Given the description of an element on the screen output the (x, y) to click on. 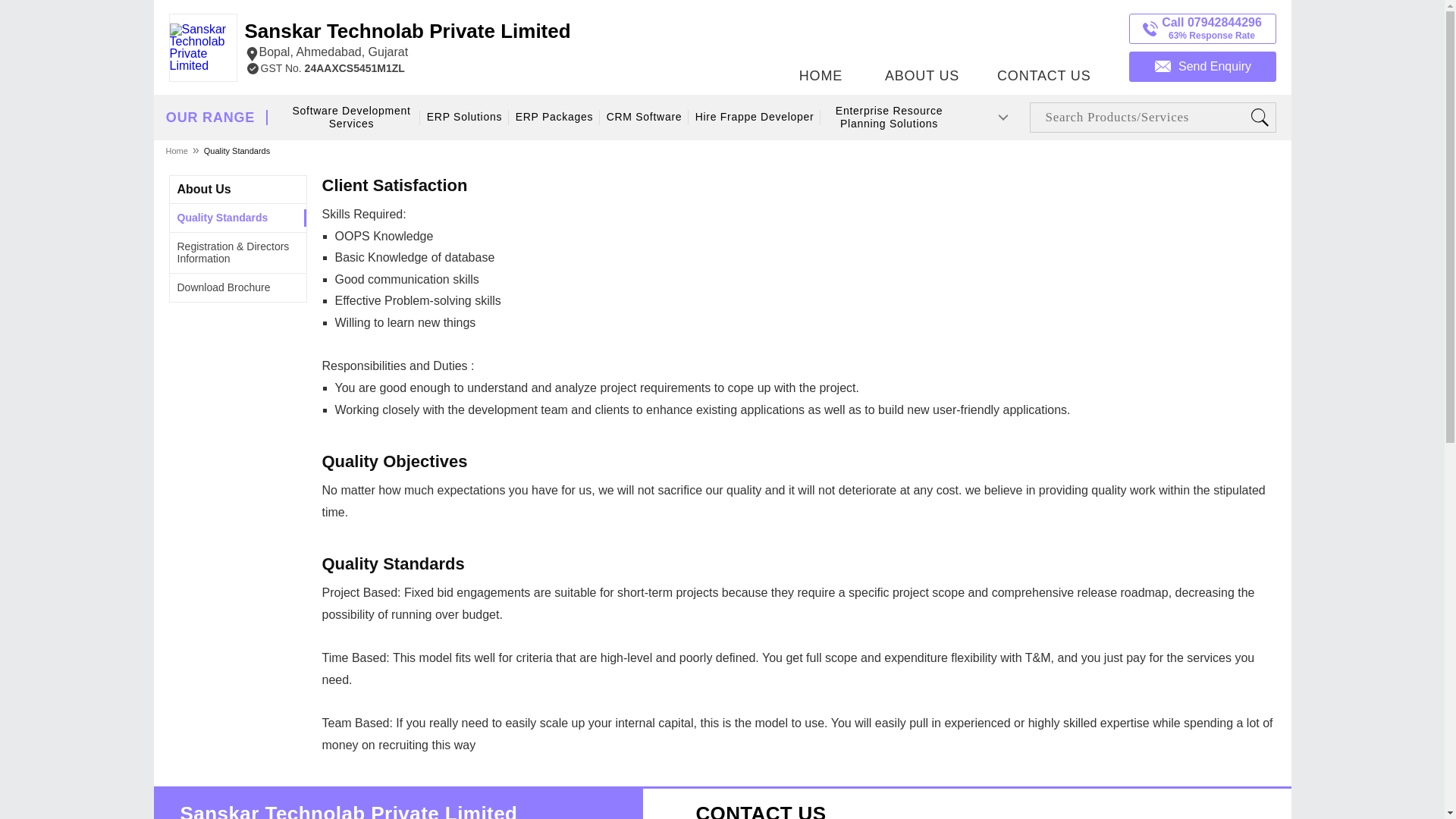
Quality Standards (222, 217)
Enterprise Resource Planning Solutions (888, 117)
Software Development Services (351, 117)
ERP Solutions (464, 117)
CONTACT US (1043, 43)
Download Brochure (223, 287)
About Us (204, 188)
CRM Software (643, 117)
ERP Packages (554, 117)
OUR RANGE (209, 117)
Quality Standards (236, 150)
Home (176, 150)
Hire Frappe Developer (753, 117)
ABOUT US (921, 43)
